Given the description of an element on the screen output the (x, y) to click on. 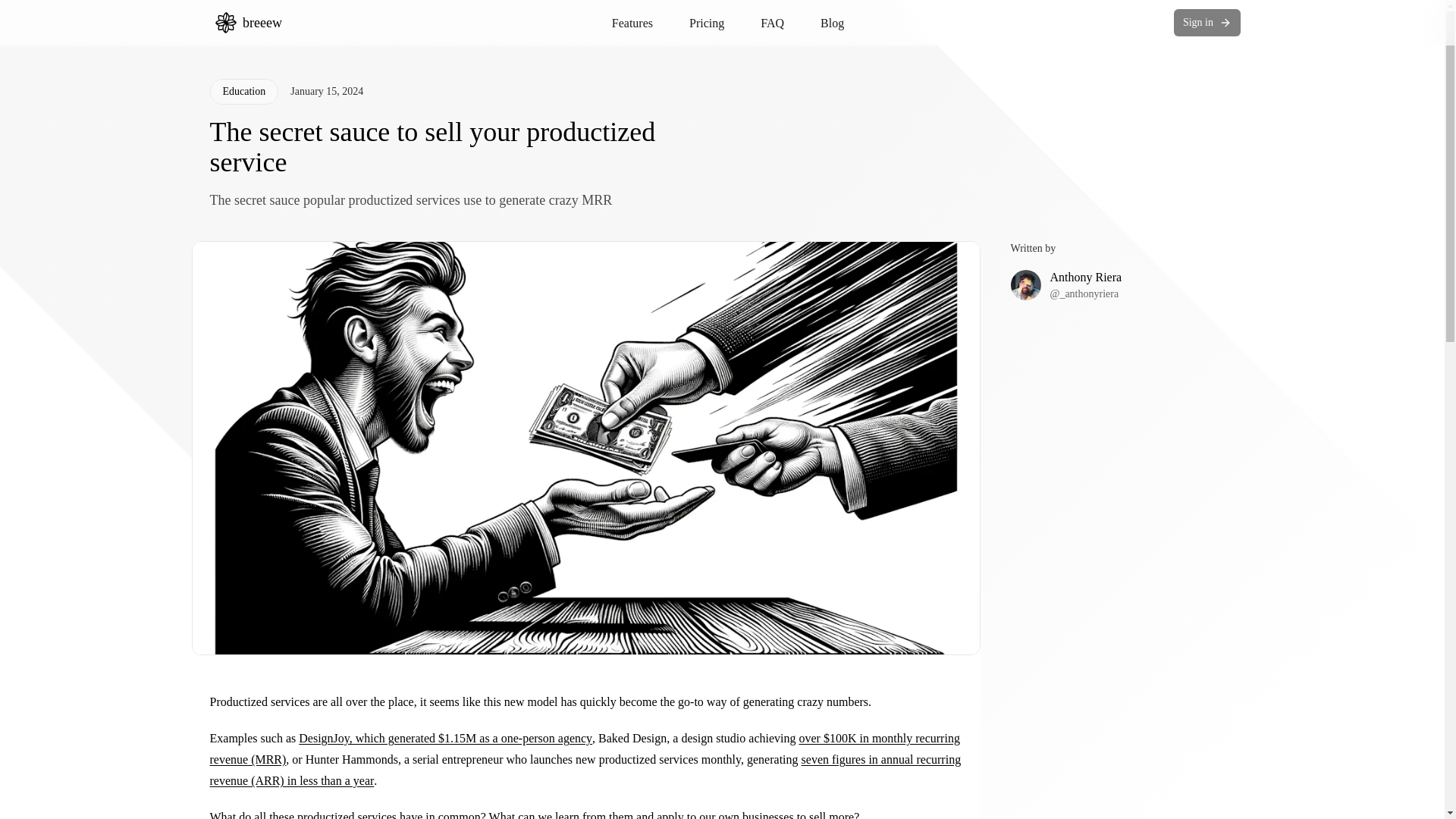
Blog (832, 22)
breeew (248, 22)
Sign in (1206, 22)
Education (243, 91)
Pricing (705, 22)
FAQ (772, 22)
Features (631, 22)
